Given the description of an element on the screen output the (x, y) to click on. 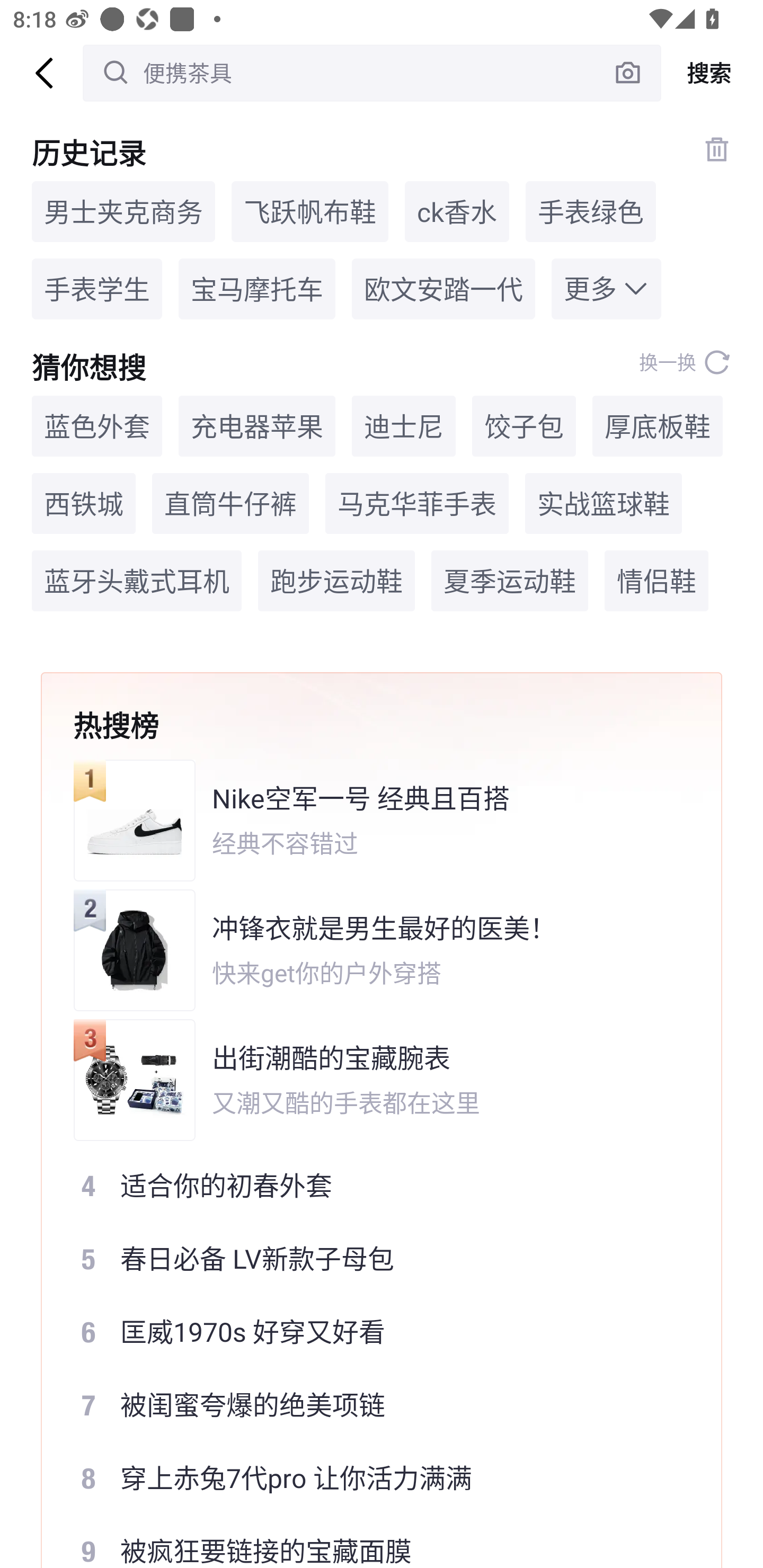
搜索 (712, 72)
便携茶具 (371, 72)
男士夹克商务 (123, 211)
飞跃帆布鞋 (309, 211)
ck香水 (456, 211)
手表绿色 (590, 211)
手表学生 (96, 288)
宝马摩托车 (256, 288)
欧文安踏一代 (442, 288)
更多  (606, 288)
换一换 (684, 362)
蓝色外套 (96, 425)
充电器苹果 (256, 425)
迪士尼 (403, 425)
饺子包 (524, 425)
厚底板鞋 (657, 425)
西铁城 (83, 503)
直筒牛仔裤 (230, 503)
马克华菲手表 (416, 503)
实战篮球鞋 (603, 503)
蓝牙头戴式耳机 (136, 580)
跑步运动鞋 (336, 580)
夏季运动鞋 (509, 580)
情侣鞋 (656, 580)
Nike空军一号 经典且百搭 经典不容错过 (369, 819)
冲锋衣就是男生最好的医美！ 快来get你的户外穿搭 (369, 950)
出街潮酷的宝藏腕表 又潮又酷的手表都在这里 (369, 1080)
4 适合你的初春外套 (369, 1185)
5 春日必备 LV新款子母包 (369, 1258)
6 匡威1970s 好穿又好看 (369, 1331)
7 被闺蜜夸爆的绝美项链 (369, 1404)
8 穿上赤兔7代pro 让你活力满满 (369, 1477)
9 被疯狂要链接的宝藏面膜 (369, 1541)
